Given the description of an element on the screen output the (x, y) to click on. 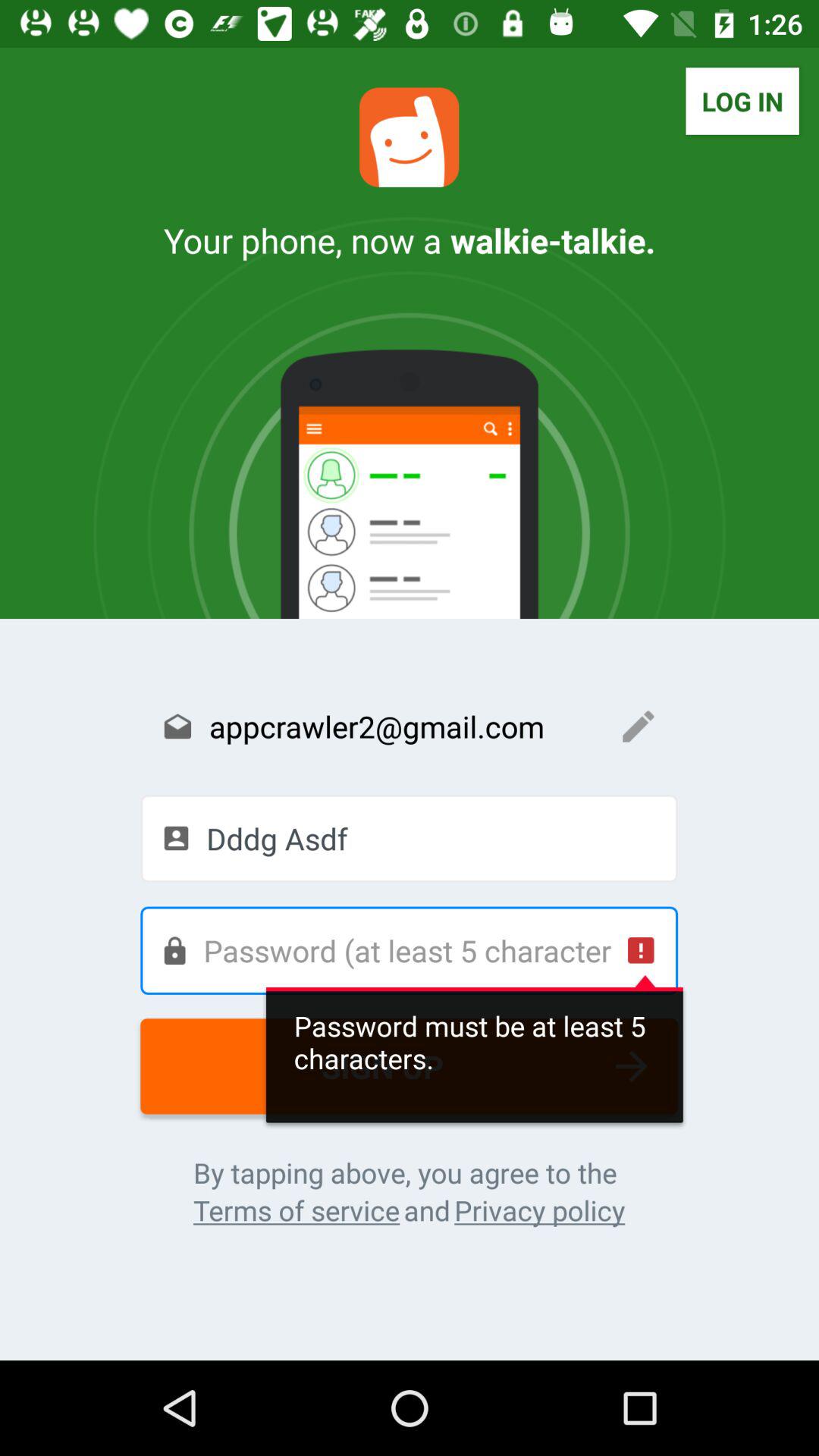
enter your password of at least 5 characters (408, 950)
